Given the description of an element on the screen output the (x, y) to click on. 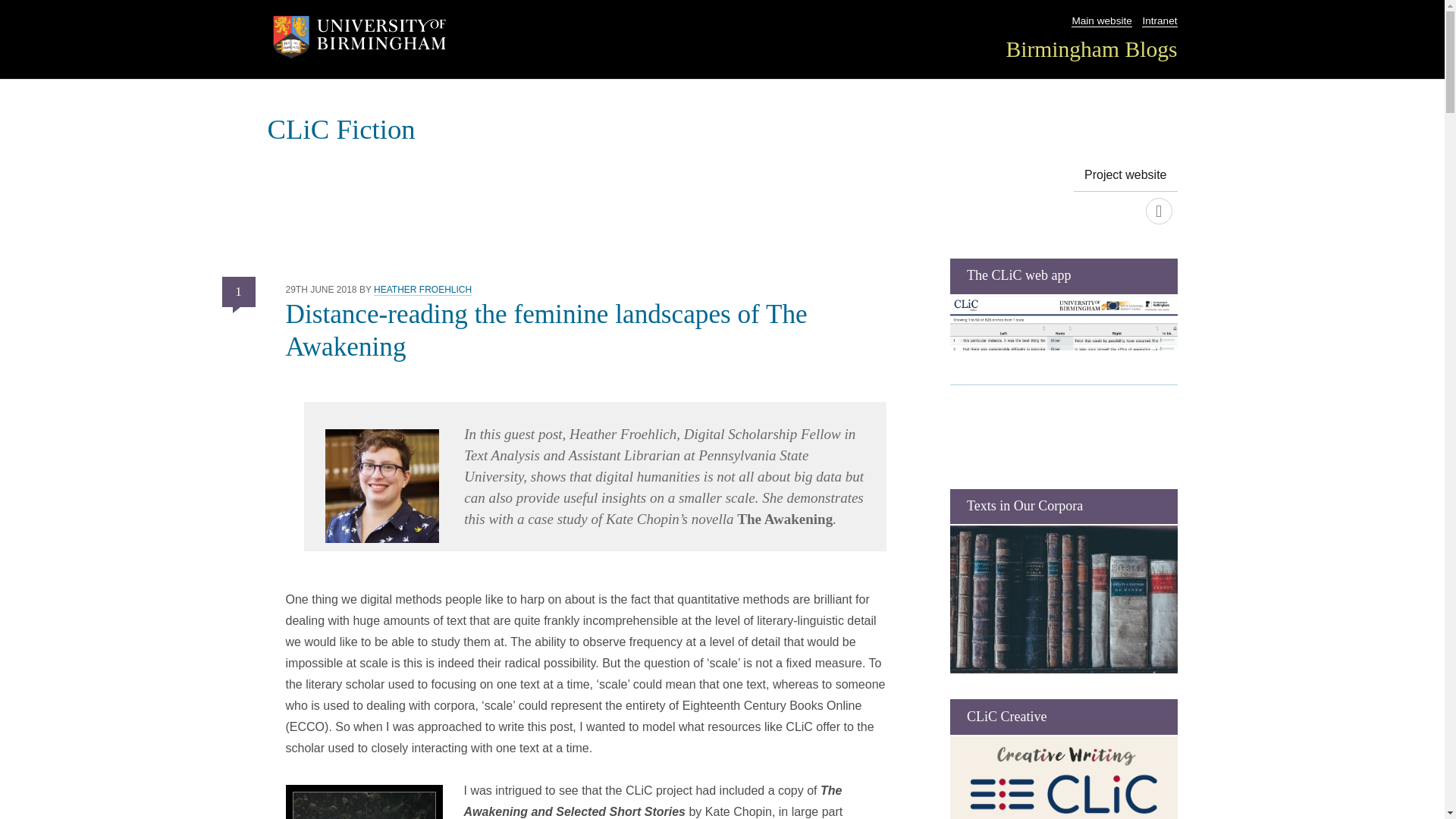
Birmingham Blogs (1091, 48)
Posts by Heather Froehlich (422, 289)
Project website (1158, 211)
Main website (1101, 21)
HEATHER FROEHLICH (422, 289)
Intranet (1158, 21)
CLiC Fiction (340, 128)
Project website (1125, 174)
